Given the description of an element on the screen output the (x, y) to click on. 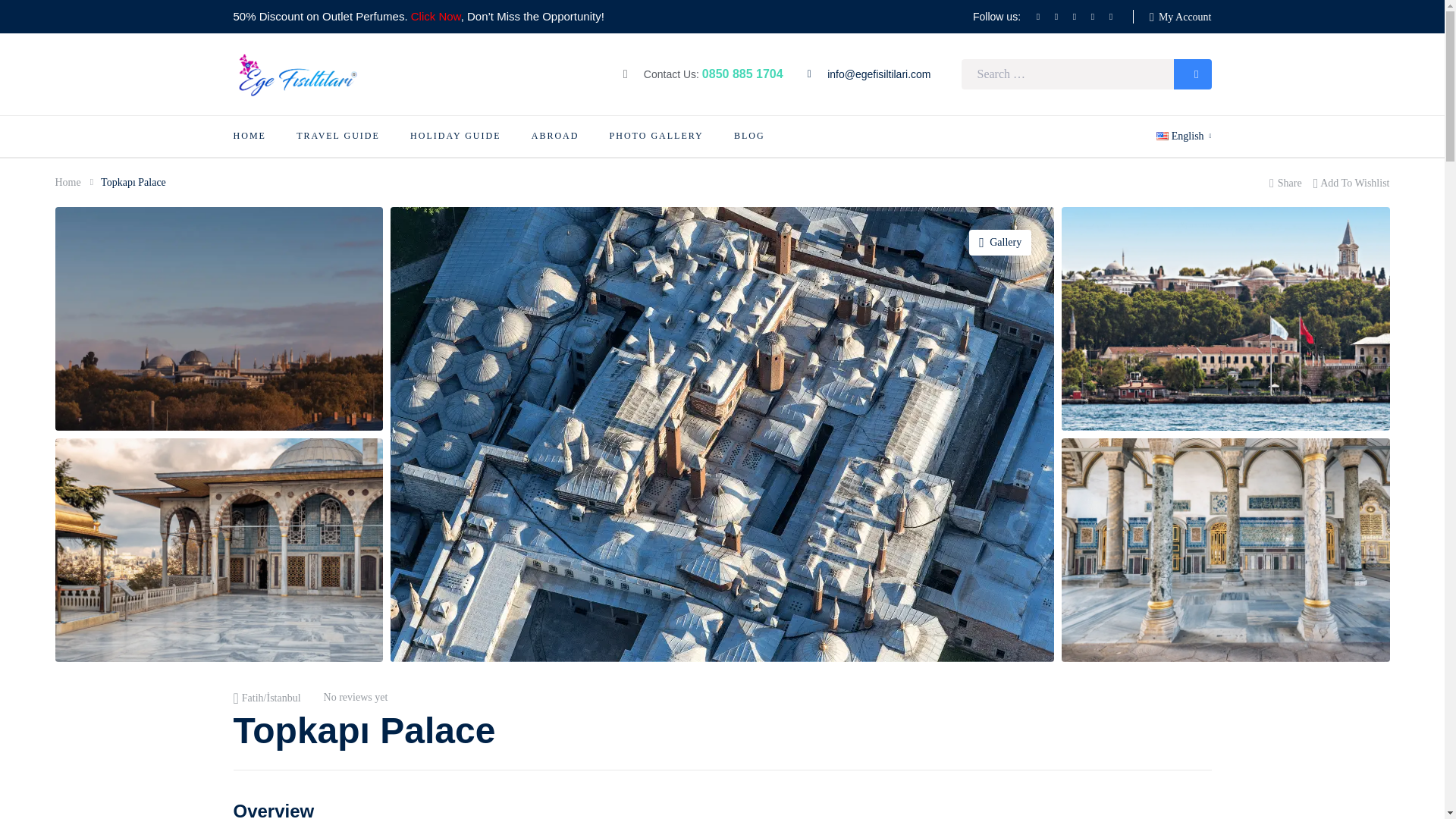
Click Now (435, 15)
Gallery (999, 242)
Share (1285, 182)
PHOTO GALLERY (656, 136)
English (1183, 136)
ABROAD (555, 136)
My Account (1180, 17)
Add To Wishlist (1351, 182)
Search (1192, 73)
TRAVEL GUIDE (338, 136)
Home (67, 182)
HOLIDAY GUIDE (455, 136)
Top (1420, 790)
Contact Us: 0850 885 1704 (703, 74)
